Given the description of an element on the screen output the (x, y) to click on. 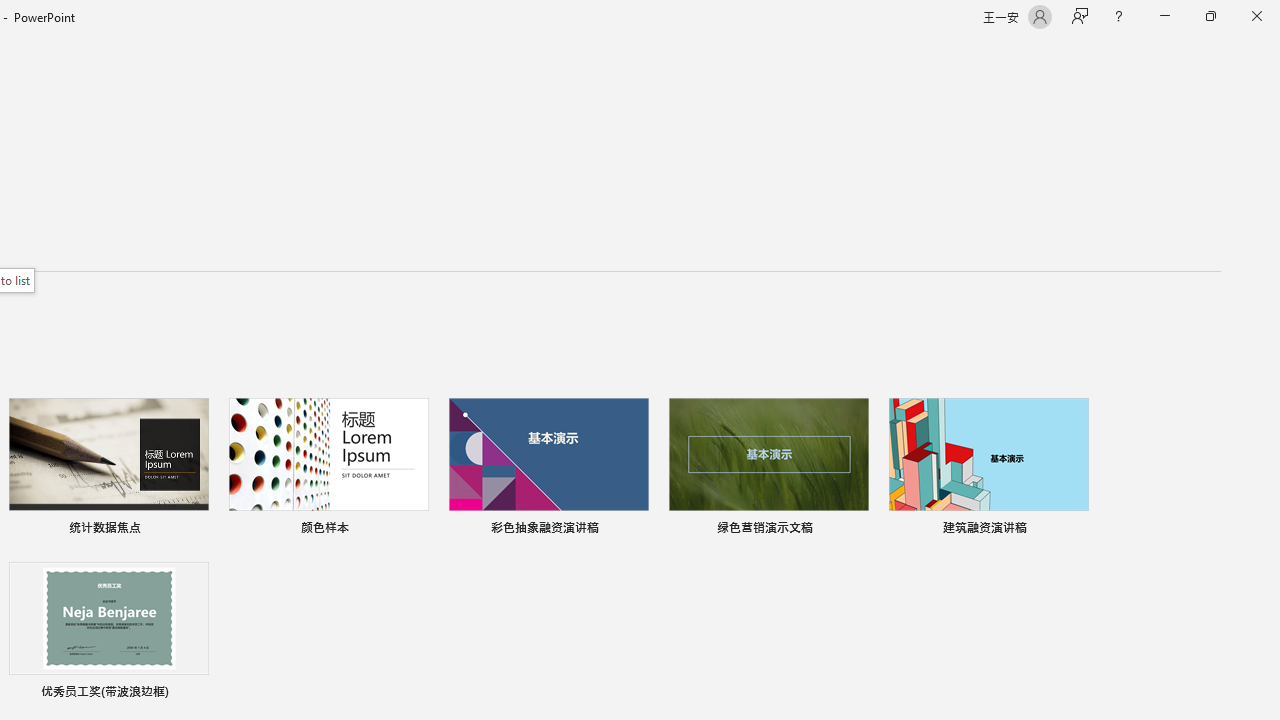
Pin to list (195, 693)
